Given the description of an element on the screen output the (x, y) to click on. 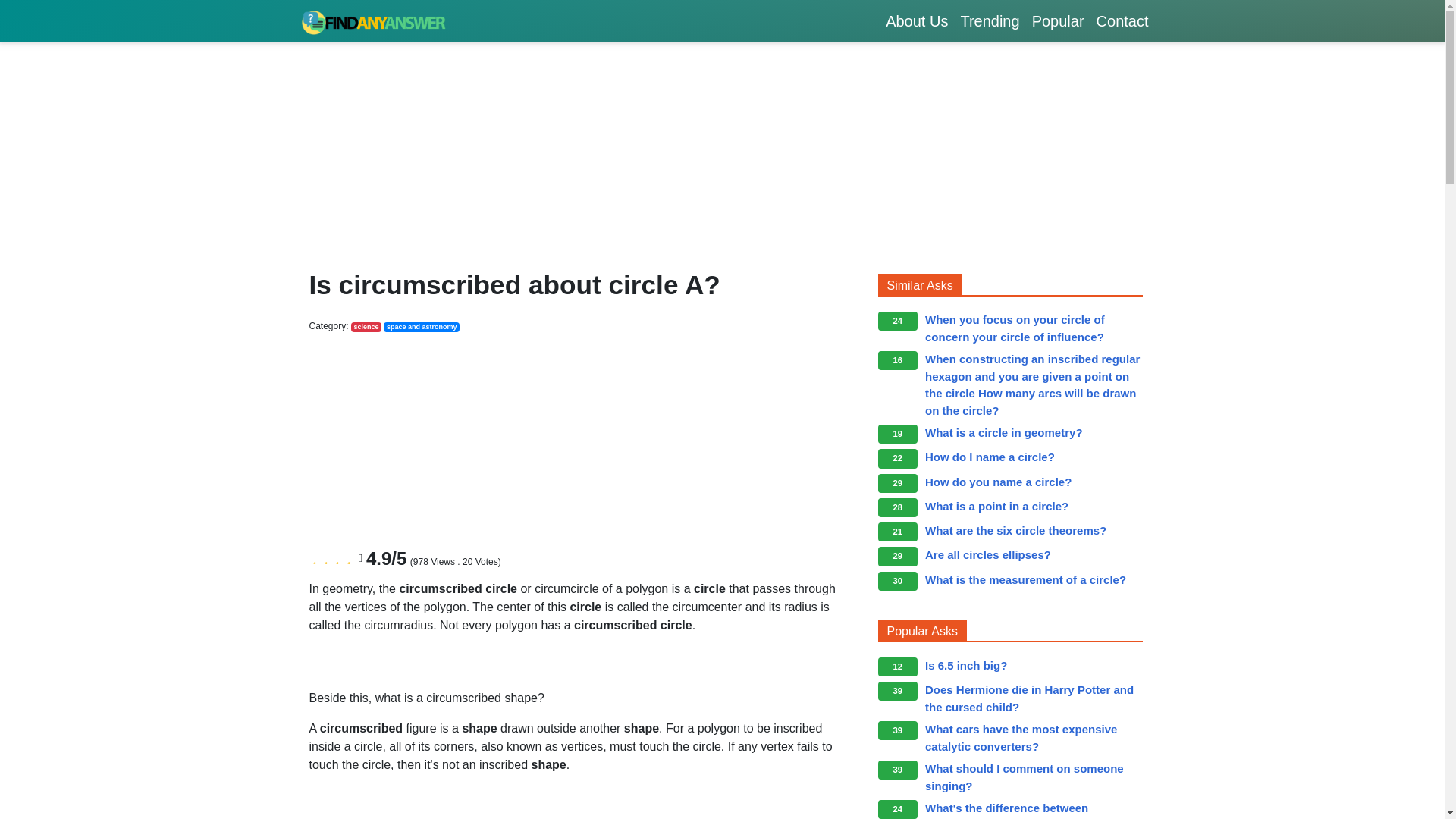
Trending (989, 20)
Contact (1122, 20)
About Us (916, 20)
Popular (1058, 20)
